Given the description of an element on the screen output the (x, y) to click on. 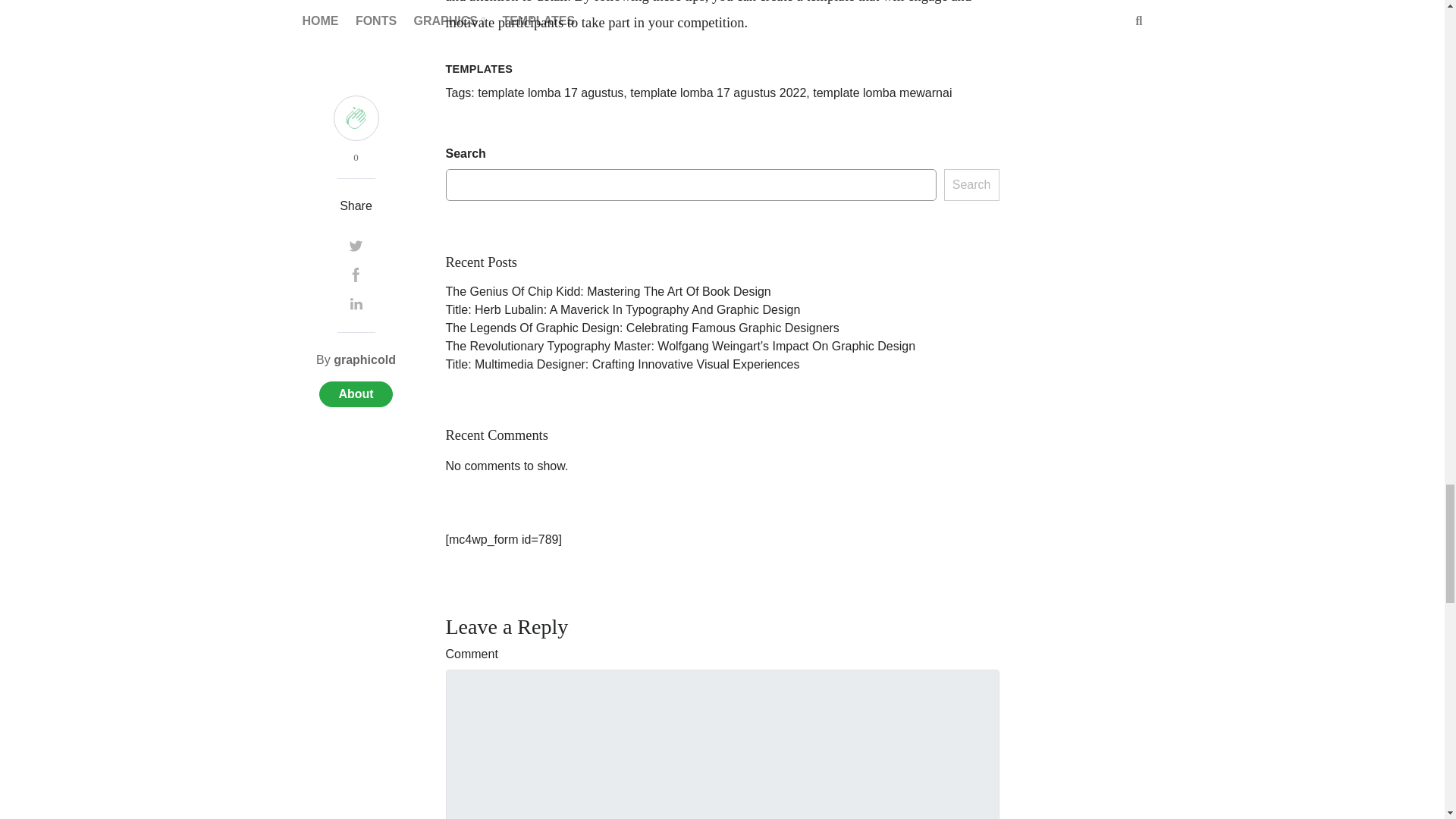
TEMPLATES (479, 69)
Search (970, 184)
template lomba 17 agustus (550, 92)
template lomba 17 agustus 2022 (718, 92)
The Genius Of Chip Kidd: Mastering The Art Of Book Design (608, 291)
template lomba mewarnai (882, 92)
